Given the description of an element on the screen output the (x, y) to click on. 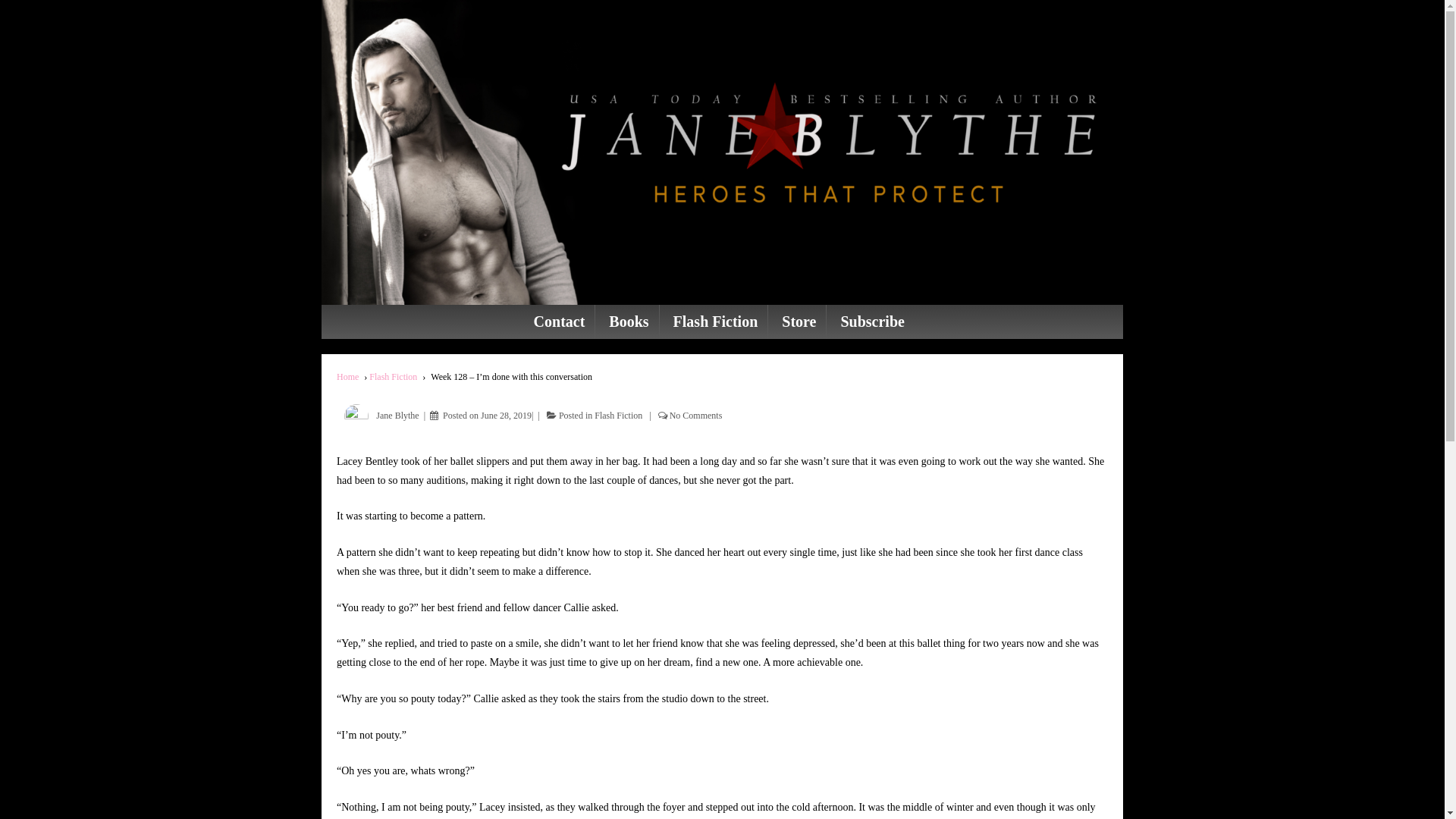
Store Element type: text (798, 321)
Jane Blythe Element type: text (377, 415)
Books Element type: text (628, 321)
Subscribe Element type: text (871, 321)
Flash Fiction Element type: text (393, 376)
Flash Fiction Element type: text (714, 321)
Contact Element type: text (559, 321)
No Comments Element type: text (695, 415)
Flash Fiction Element type: text (618, 415)
June 28, 2019 Element type: text (506, 415)
Home Element type: text (347, 376)
